Given the description of an element on the screen output the (x, y) to click on. 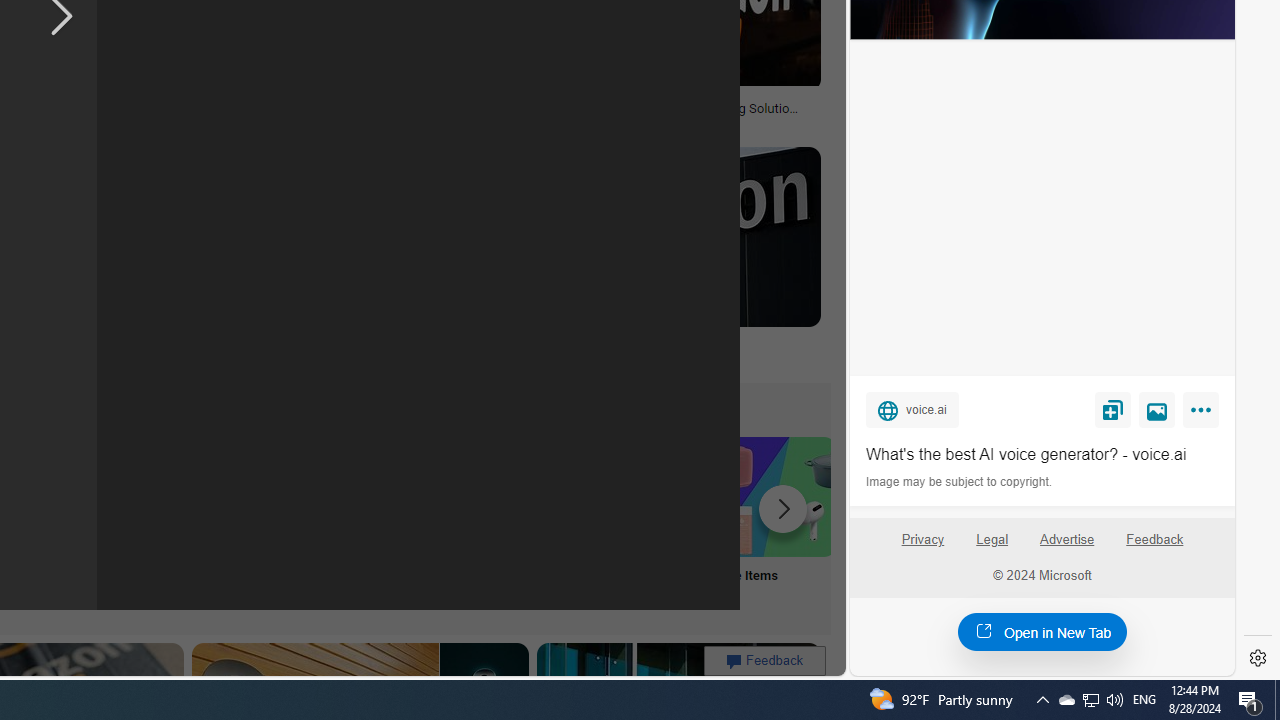
Feedback (1154, 547)
Visa Card Login (643, 521)
3d illustration of amazon logo 18779928 PNG (371, 114)
Settings (1258, 658)
Legal (992, 547)
Mini TV (116, 521)
cordcuttersnews.com (234, 358)
protothema.gr (662, 359)
Scroll more suggestions right (783, 508)
Amazon Online Shopping Homepage Online Shopping Homepage (248, 521)
Amazon (536, 343)
Amazonprotothema.grSave (662, 260)
